Given the description of an element on the screen output the (x, y) to click on. 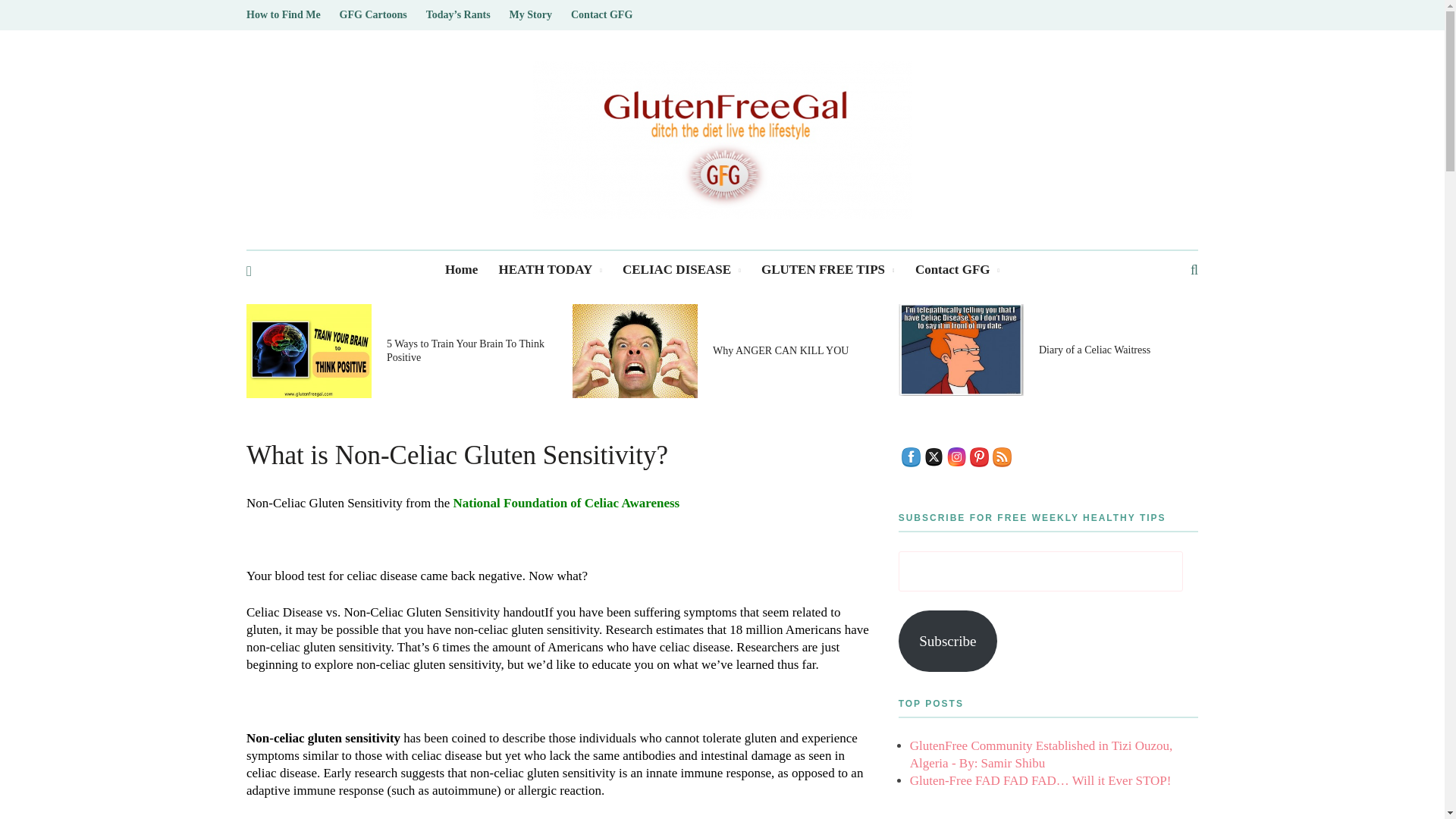
Twitter (933, 456)
CELIAC DISEASE (682, 269)
Facebook (910, 457)
GLUTEN FREE TIPS (828, 269)
Contact GFG (956, 269)
GFG Cartoons (373, 15)
HEATH TODAY (550, 269)
Contact GFG (600, 15)
My Story (530, 15)
GlutenFreeGal (721, 139)
How to Find Me (283, 15)
